Given the description of an element on the screen output the (x, y) to click on. 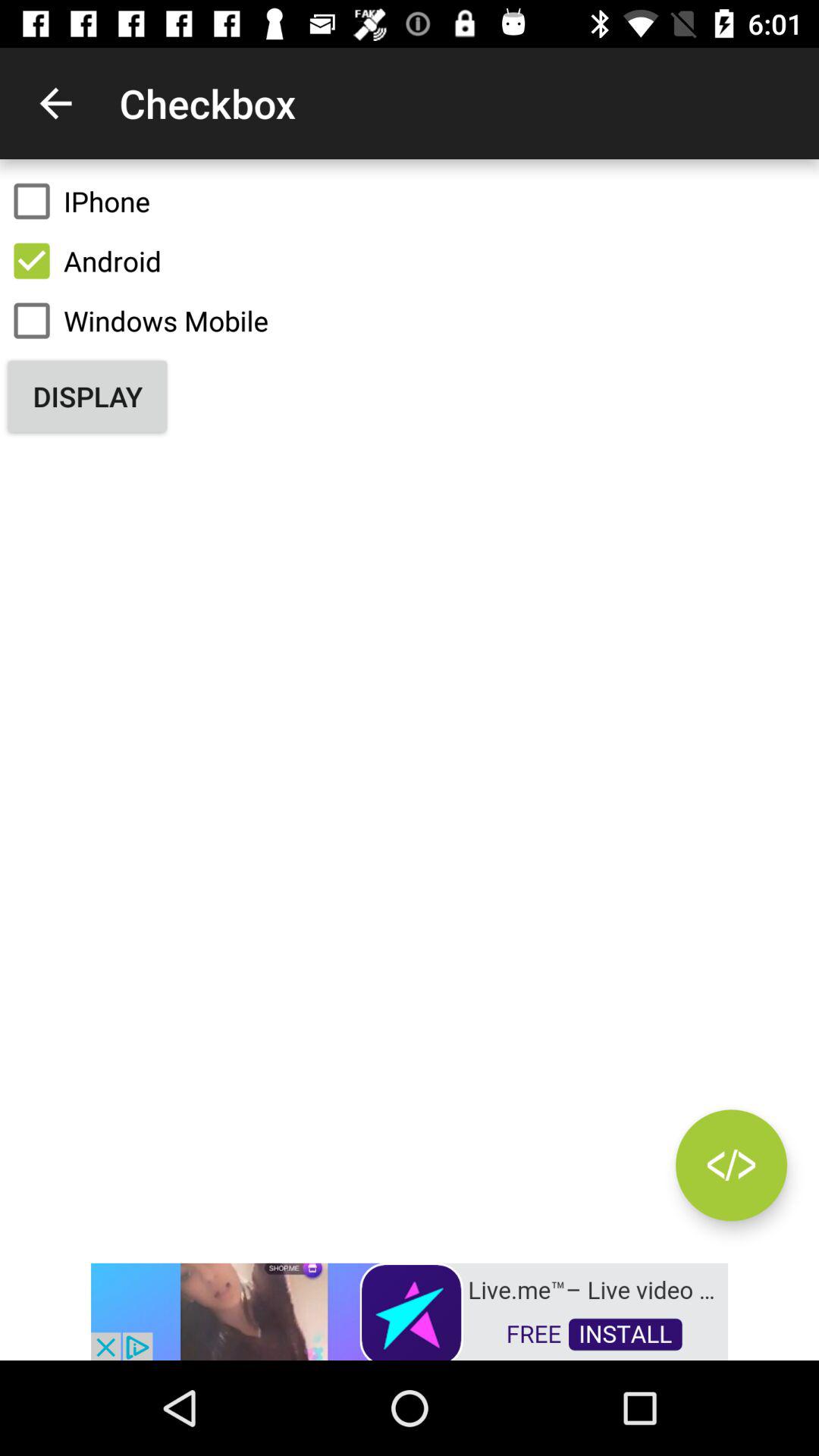
toggle autoplay option (731, 1165)
